Given the description of an element on the screen output the (x, y) to click on. 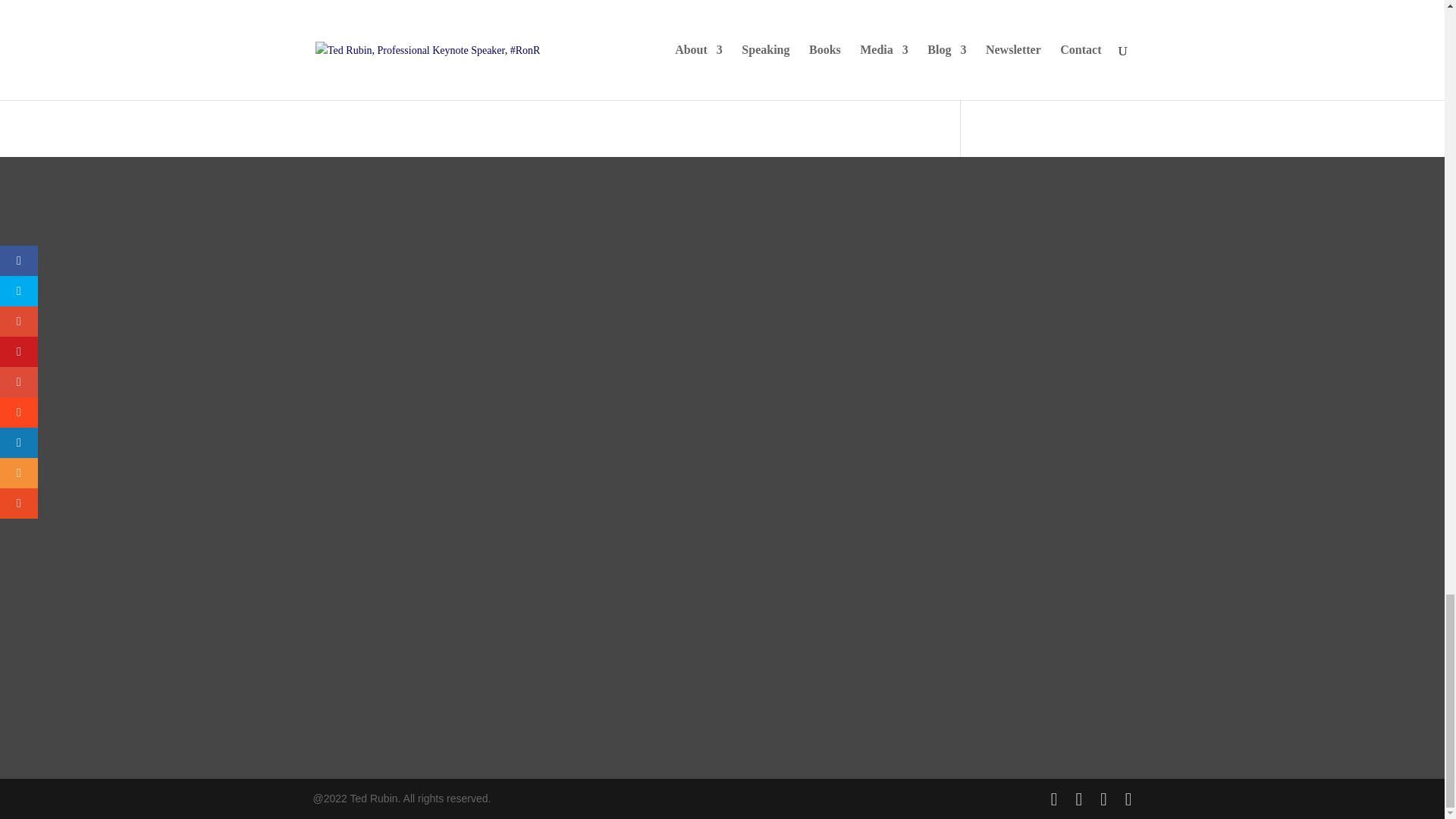
on (319, 15)
